Given the description of an element on the screen output the (x, y) to click on. 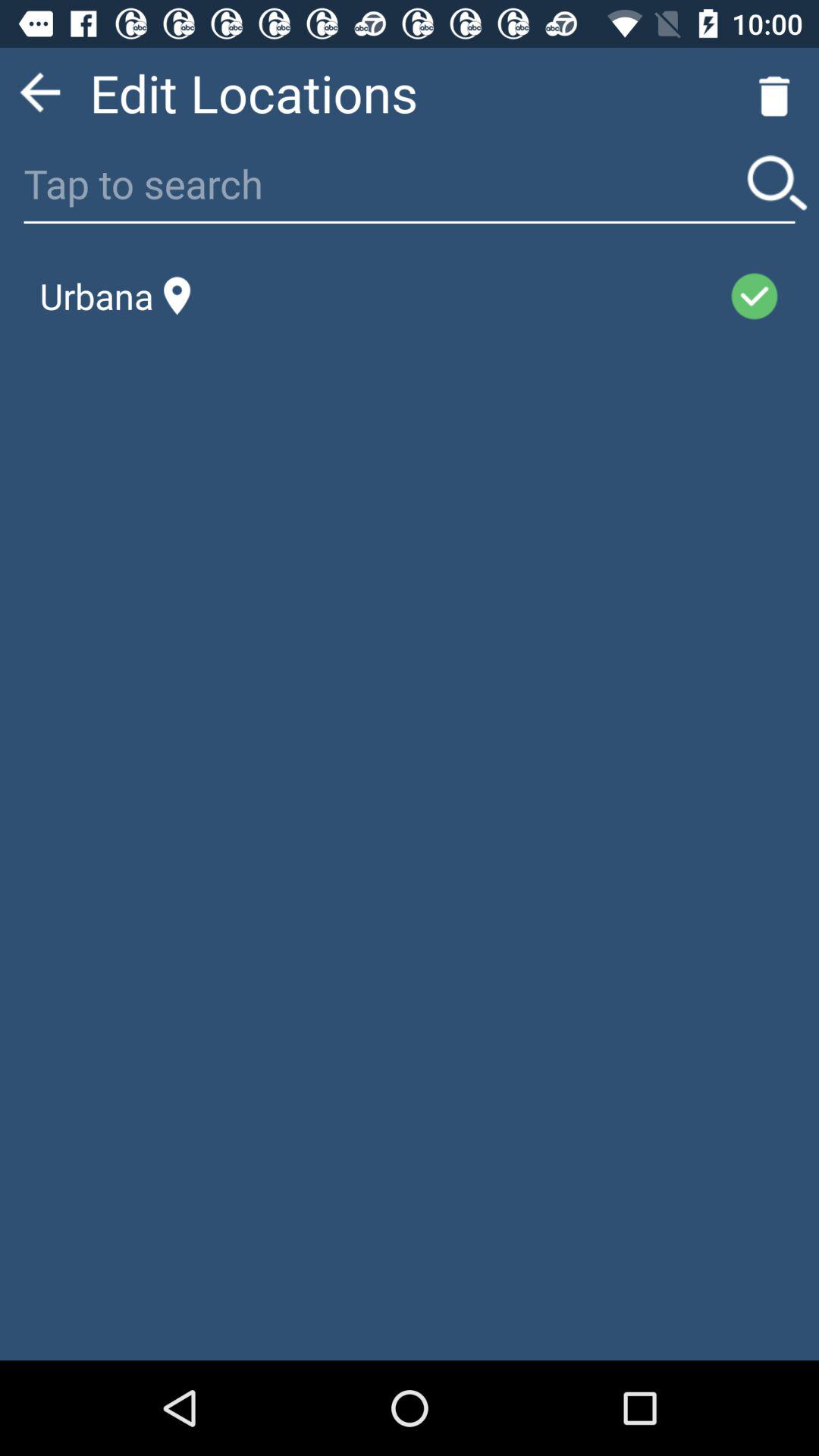
open the icon to the right of the urbana item (460, 296)
